Given the description of an element on the screen output the (x, y) to click on. 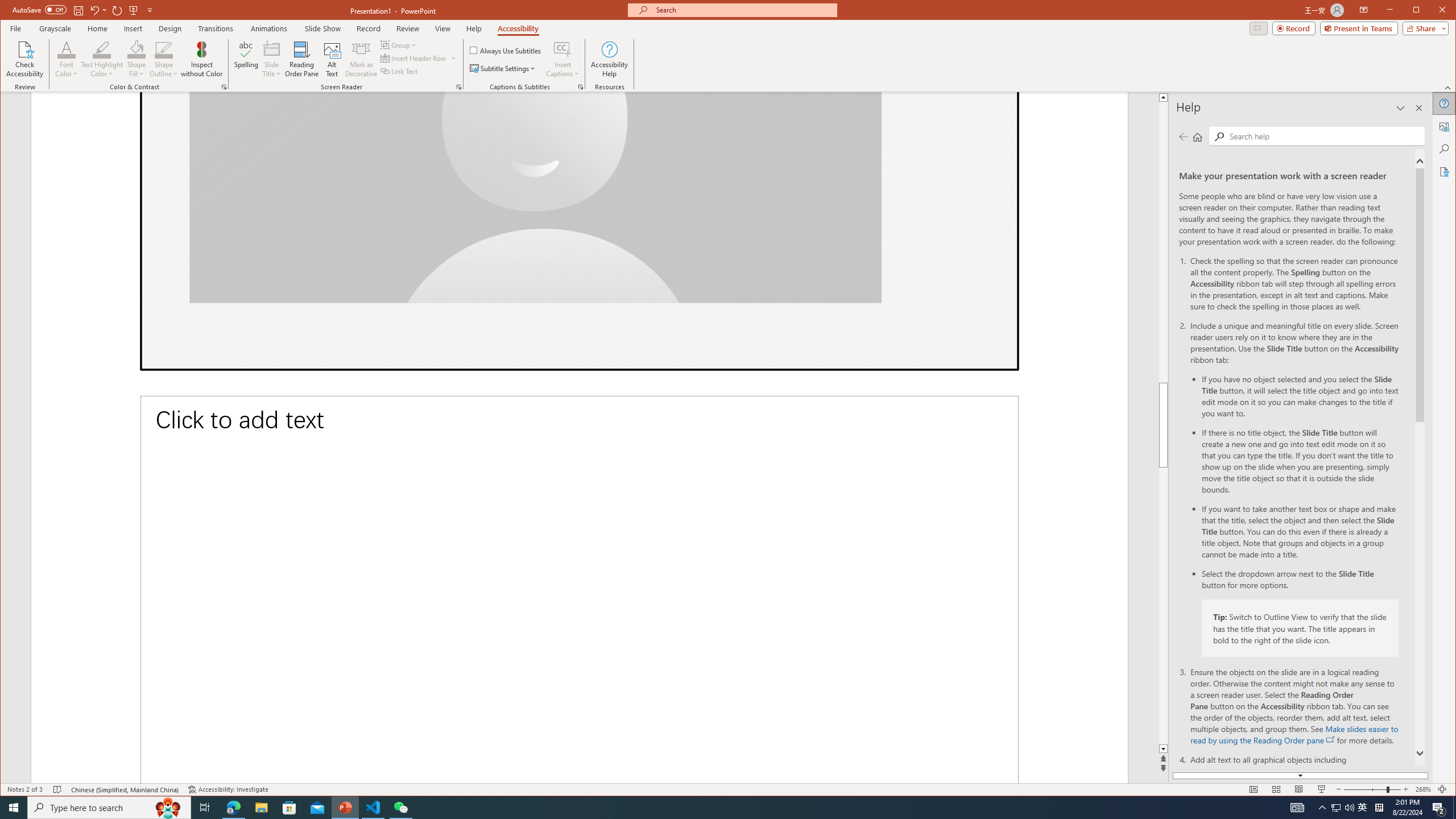
Mark as Decorative (360, 59)
